Given the description of an element on the screen output the (x, y) to click on. 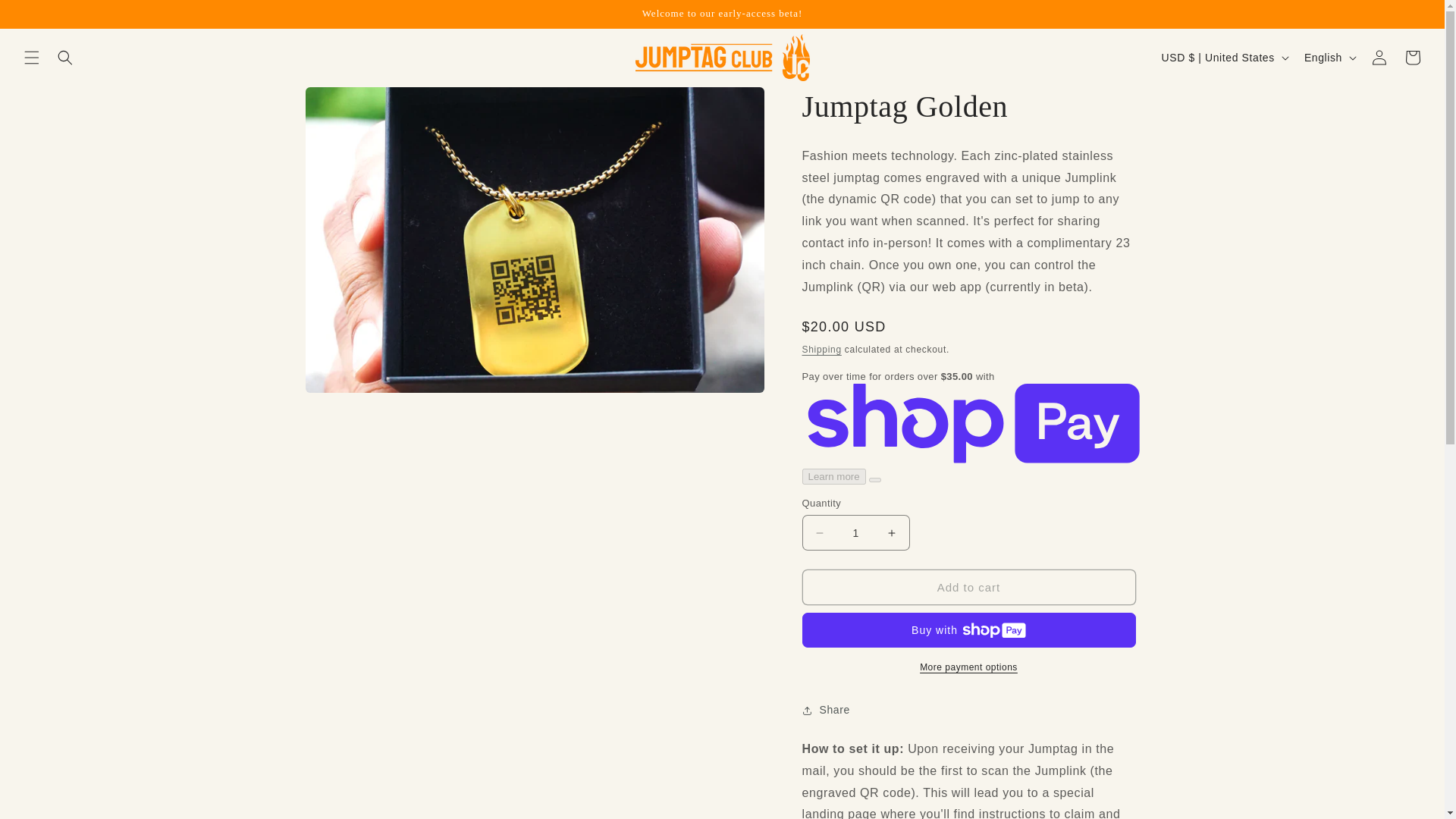
English (1328, 57)
Shipping (821, 348)
Log in (1379, 57)
Skip to product information (350, 104)
Cart (1412, 57)
Increase quantity for Jumptag Golden (891, 532)
Add to cart (968, 587)
More payment options (968, 667)
1 (856, 532)
Skip to content (45, 17)
Decrease quantity for Jumptag Golden (818, 532)
